Given the description of an element on the screen output the (x, y) to click on. 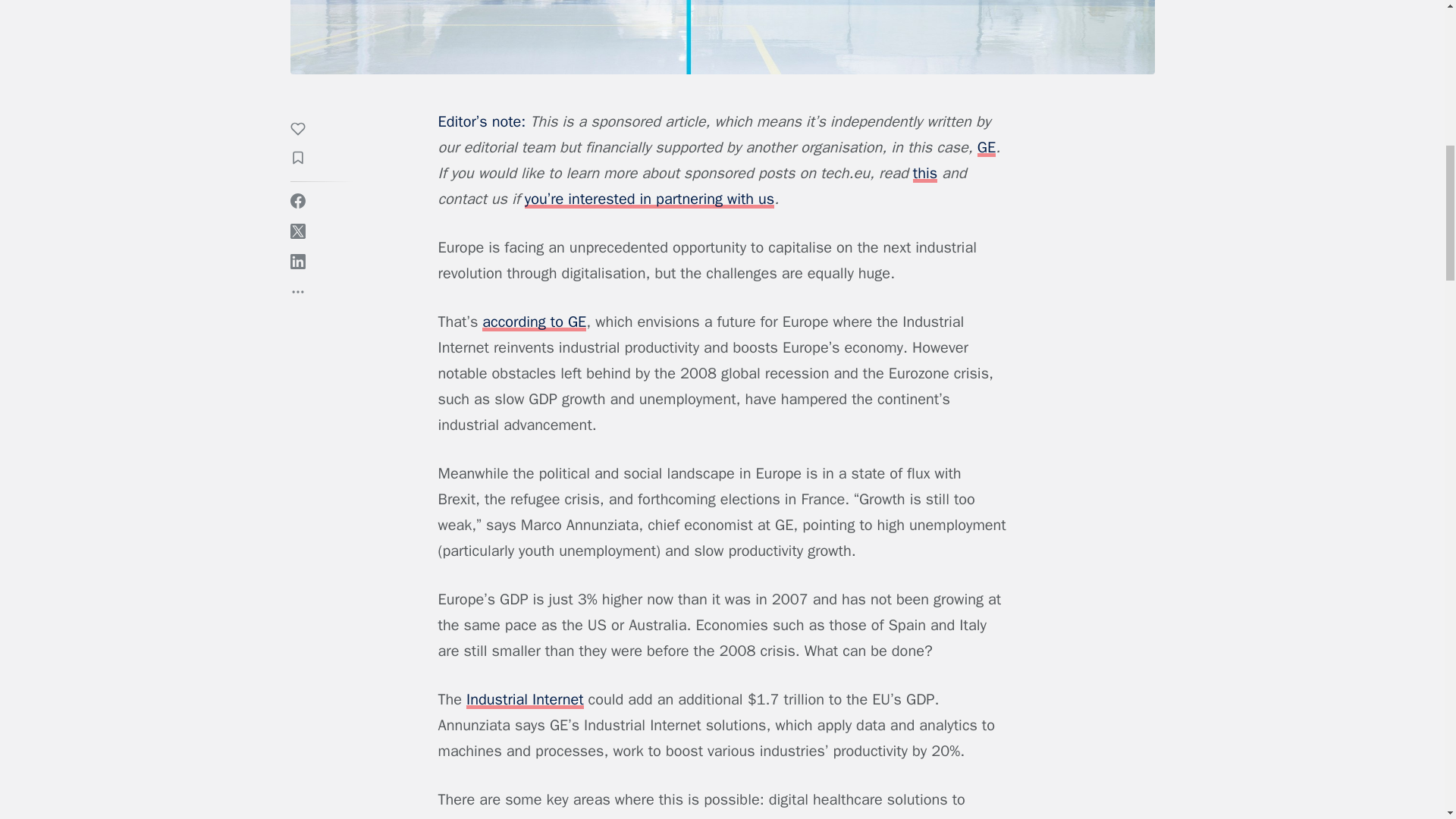
Like (304, 126)
Share on Facebook (296, 196)
Share on Linkedin (296, 256)
Add to collection (304, 155)
Share on Twitter (296, 226)
